Given the description of an element on the screen output the (x, y) to click on. 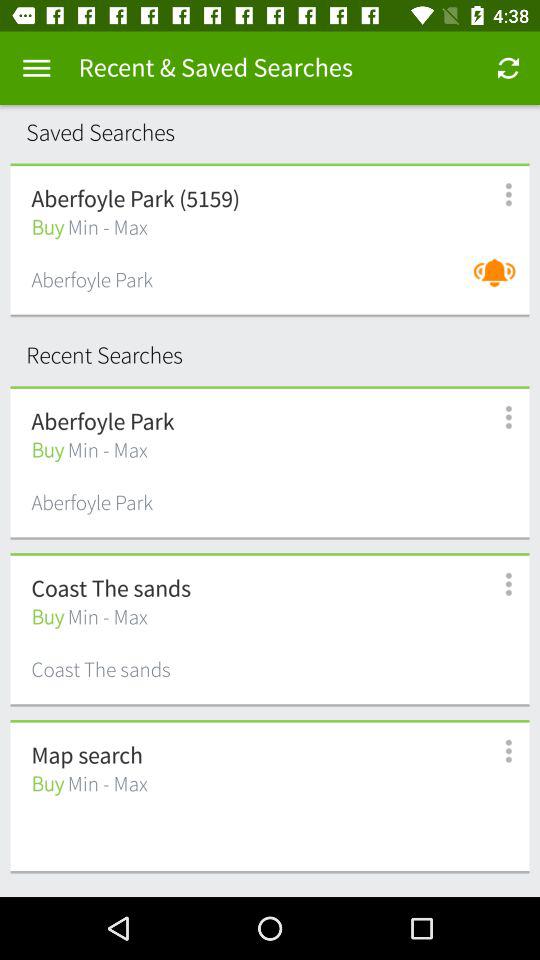
see search options (497, 584)
